Given the description of an element on the screen output the (x, y) to click on. 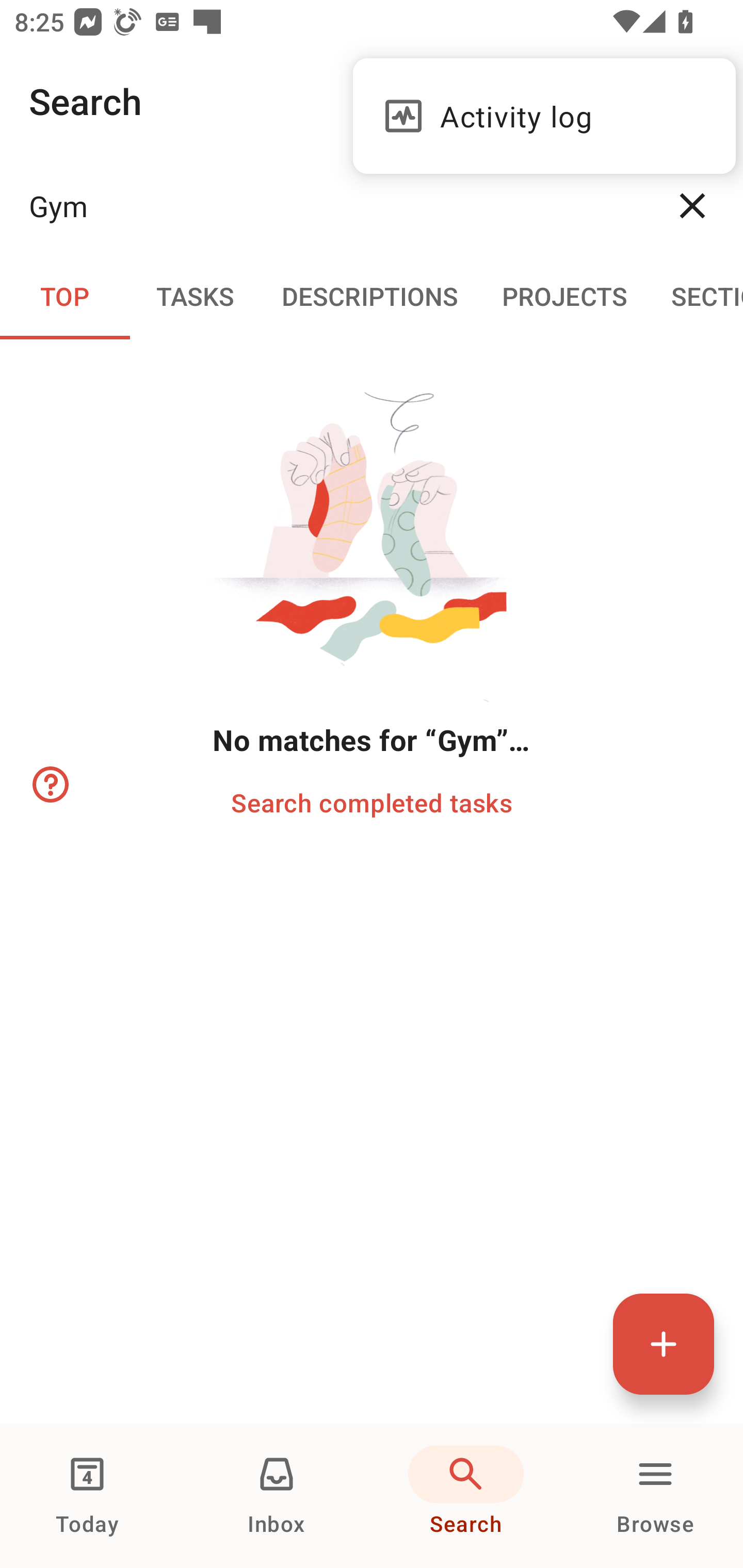
Activity log (544, 115)
